Given the description of an element on the screen output the (x, y) to click on. 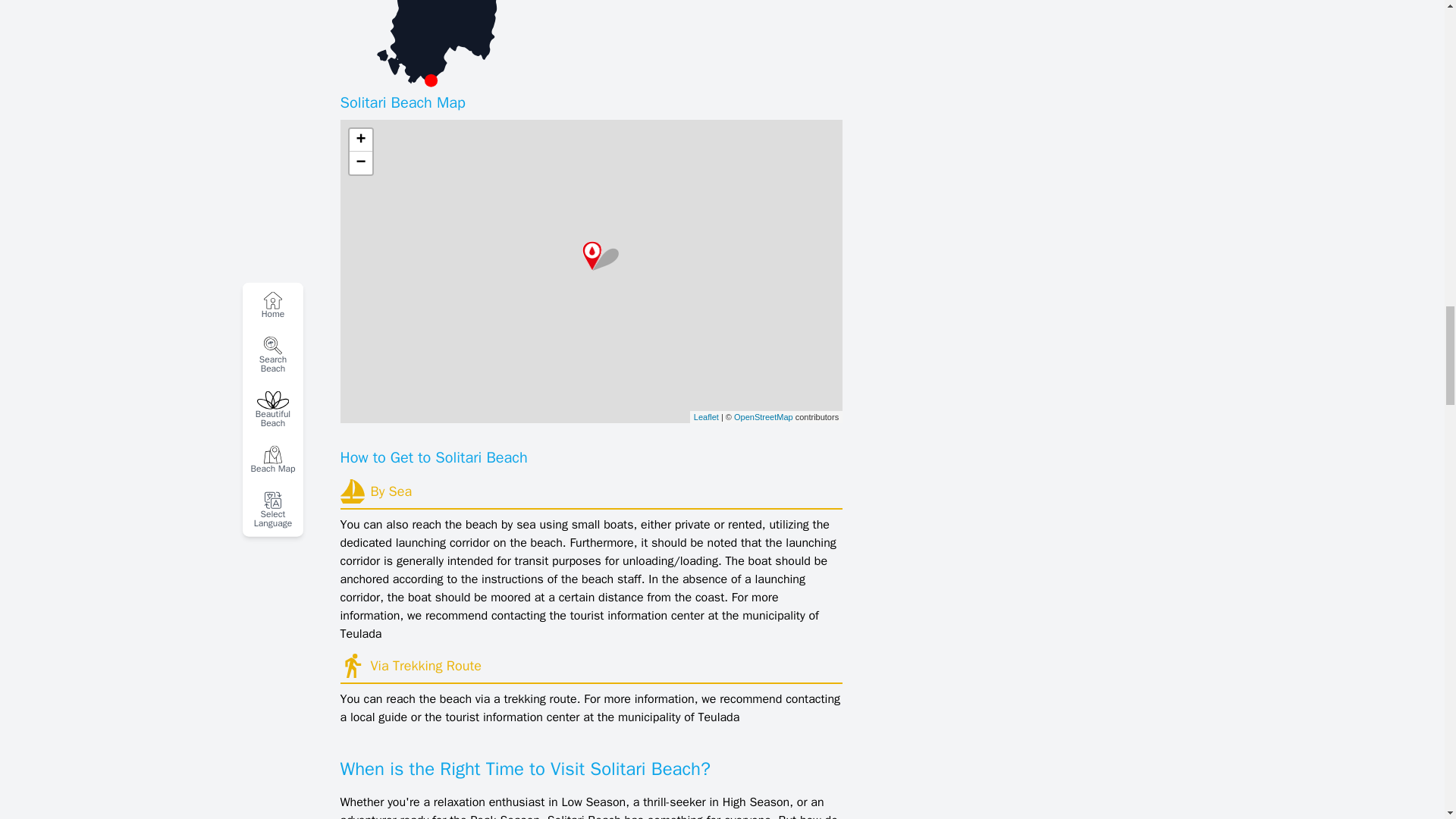
A JS library for interactive maps (706, 416)
Zoom in (360, 139)
Zoom out (360, 162)
